Given the description of an element on the screen output the (x, y) to click on. 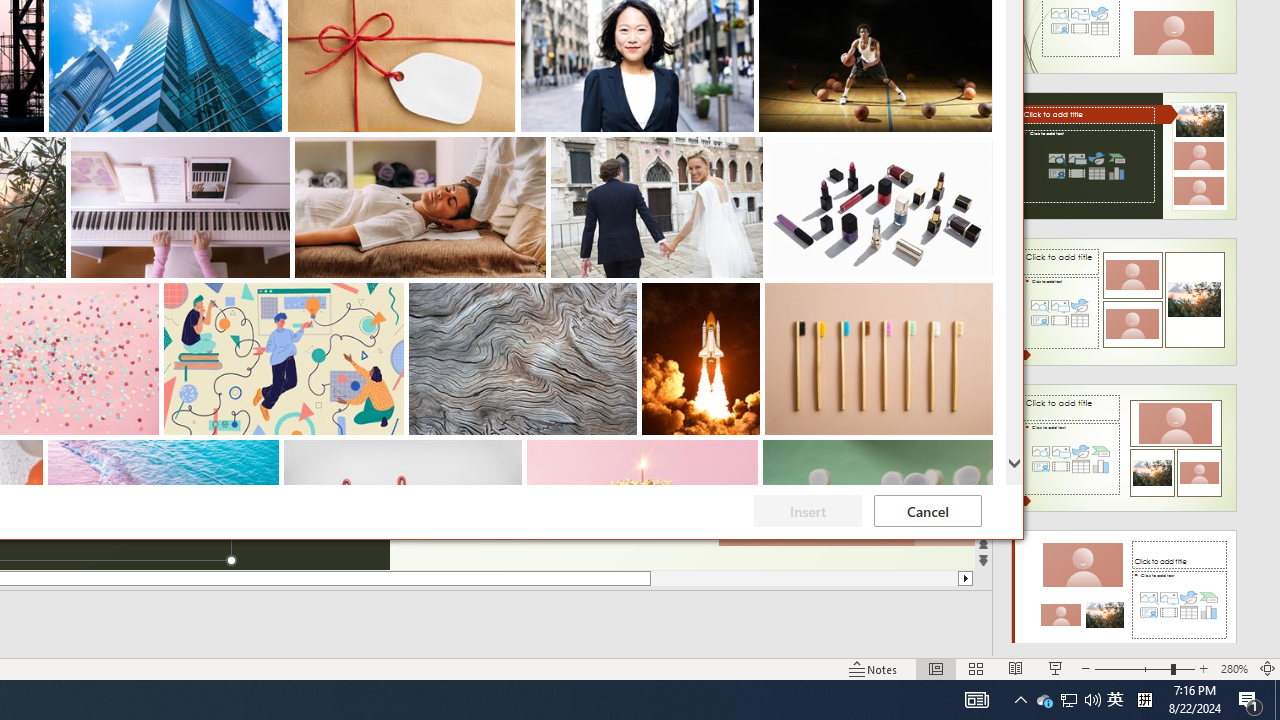
Cancel (1115, 699)
